Given the description of an element on the screen output the (x, y) to click on. 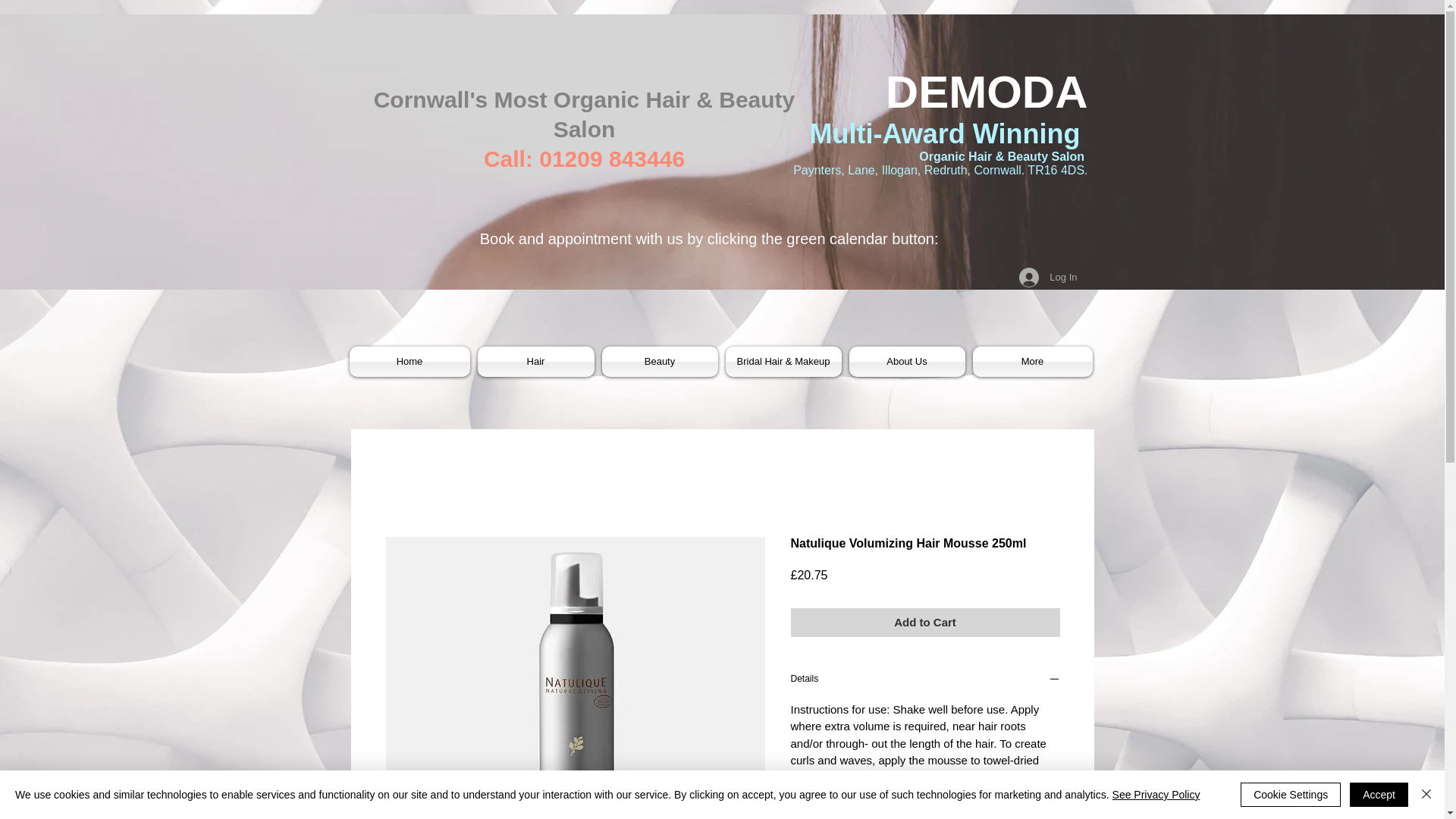
Home (411, 361)
Embedded Content (852, 198)
Add to Cart (924, 623)
Details (924, 680)
Log In (1048, 276)
